Given the description of an element on the screen output the (x, y) to click on. 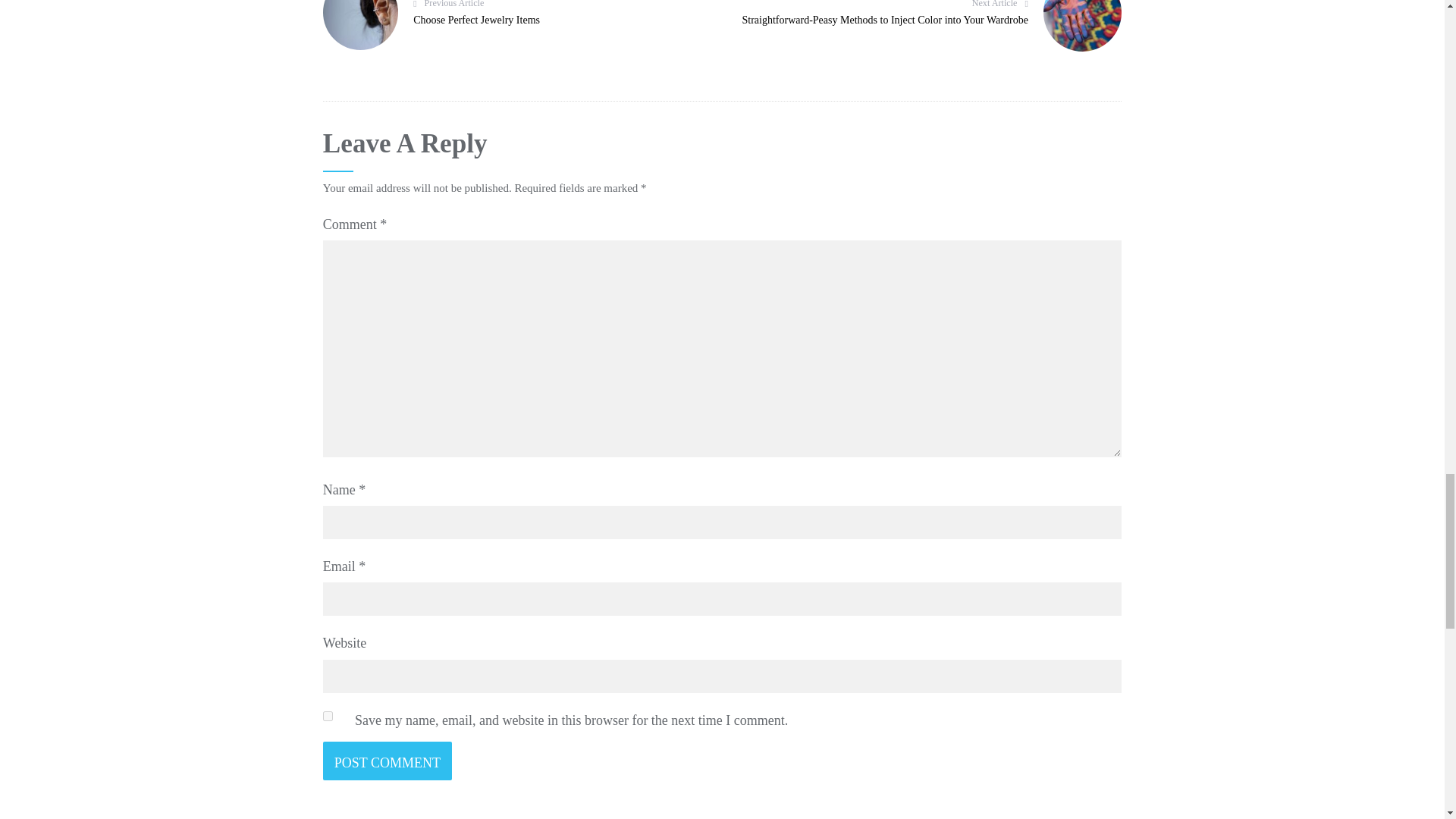
Post Comment (387, 761)
Post Comment (511, 24)
yes (387, 761)
